Given the description of an element on the screen output the (x, y) to click on. 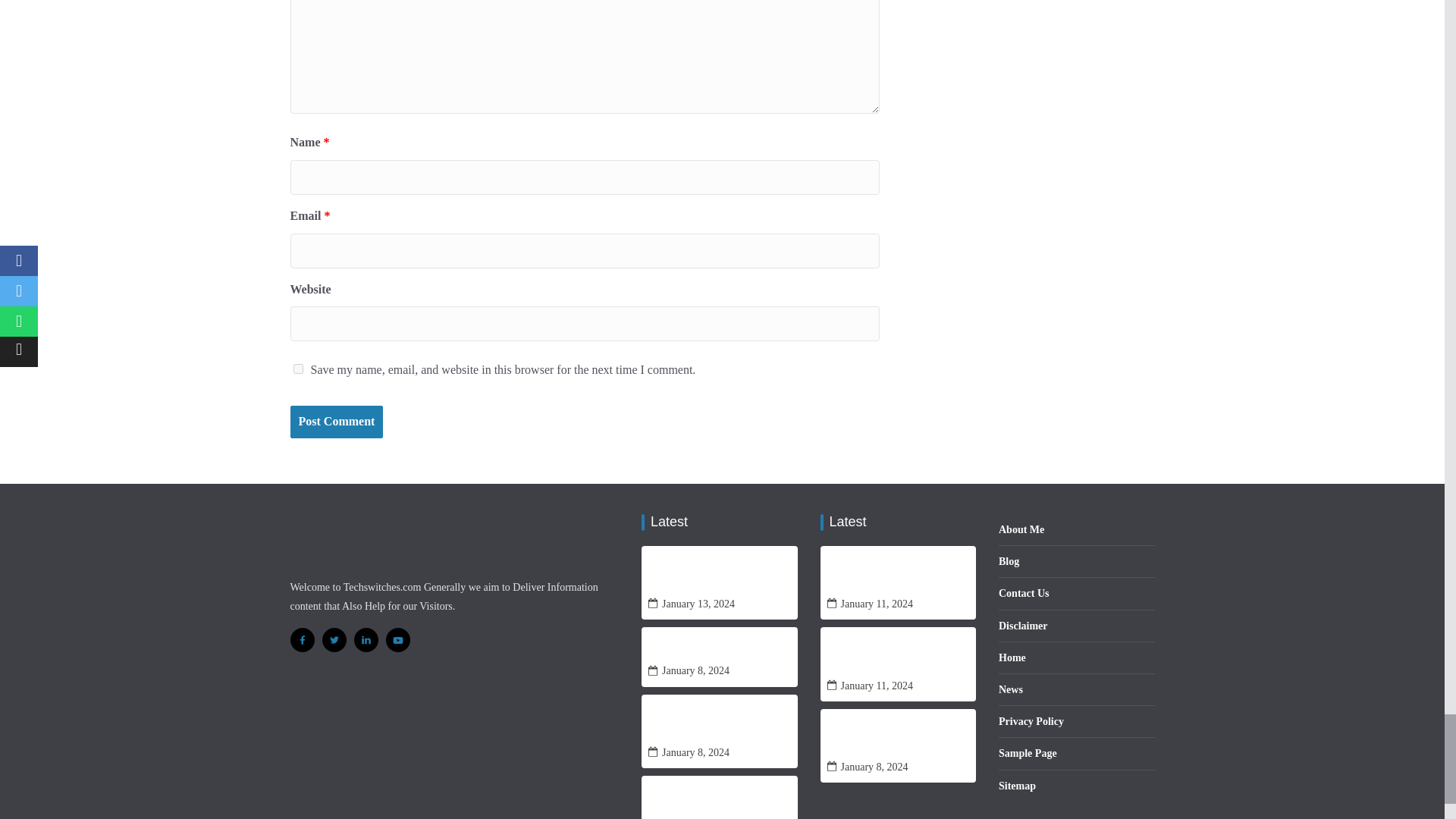
Post Comment (335, 421)
Post Comment (335, 421)
yes (297, 368)
